Given the description of an element on the screen output the (x, y) to click on. 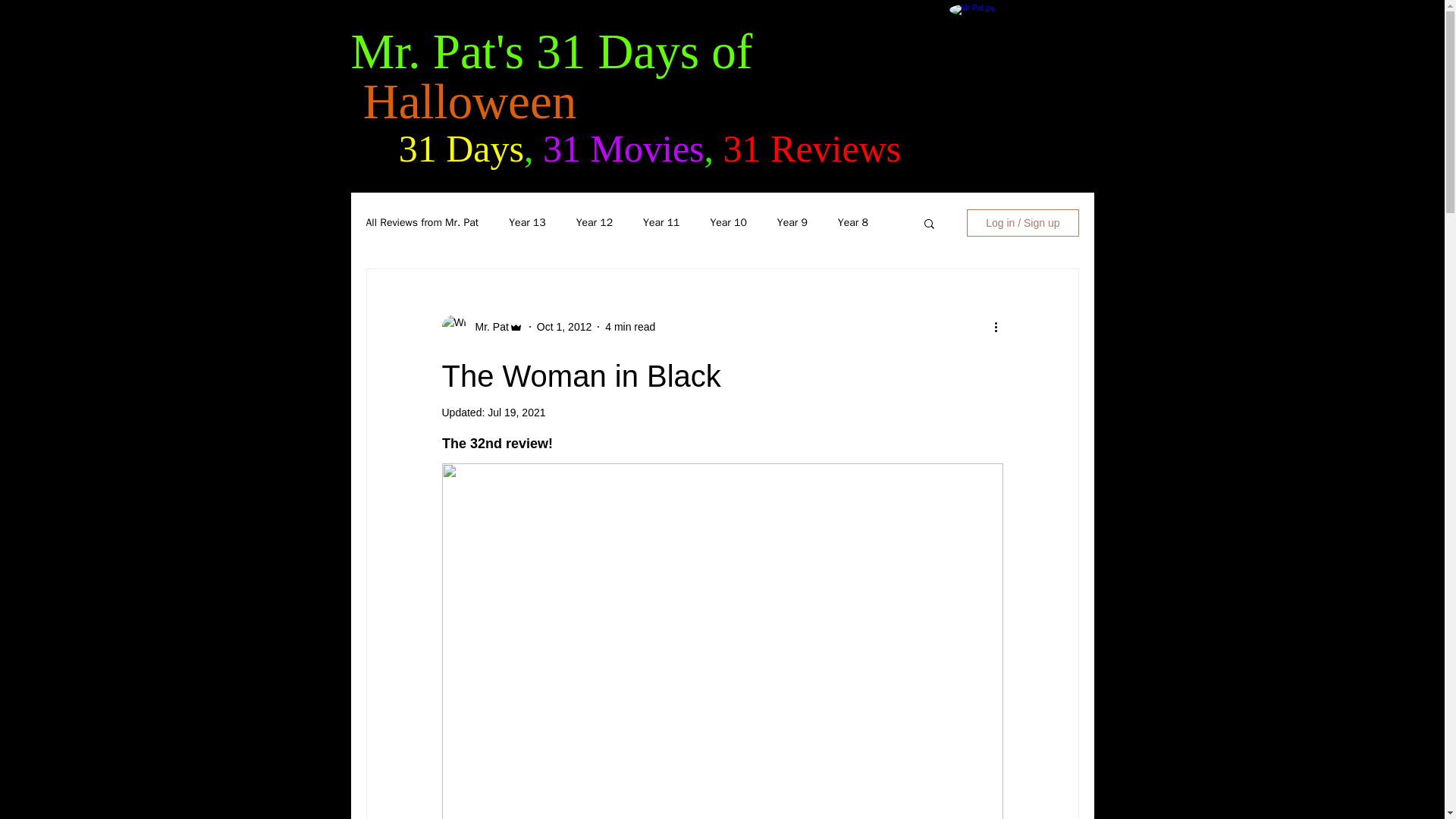
Year 10 (727, 223)
Year 8 (852, 223)
Jul 19, 2021 (515, 412)
Mr. Pat's 31 Days of  Halloween (551, 76)
4 min read (630, 326)
Oct 1, 2012 (564, 326)
Year 9 (792, 223)
All Reviews from Mr. Pat (422, 223)
Year 12 (594, 223)
Year 13 (526, 223)
